Given the description of an element on the screen output the (x, y) to click on. 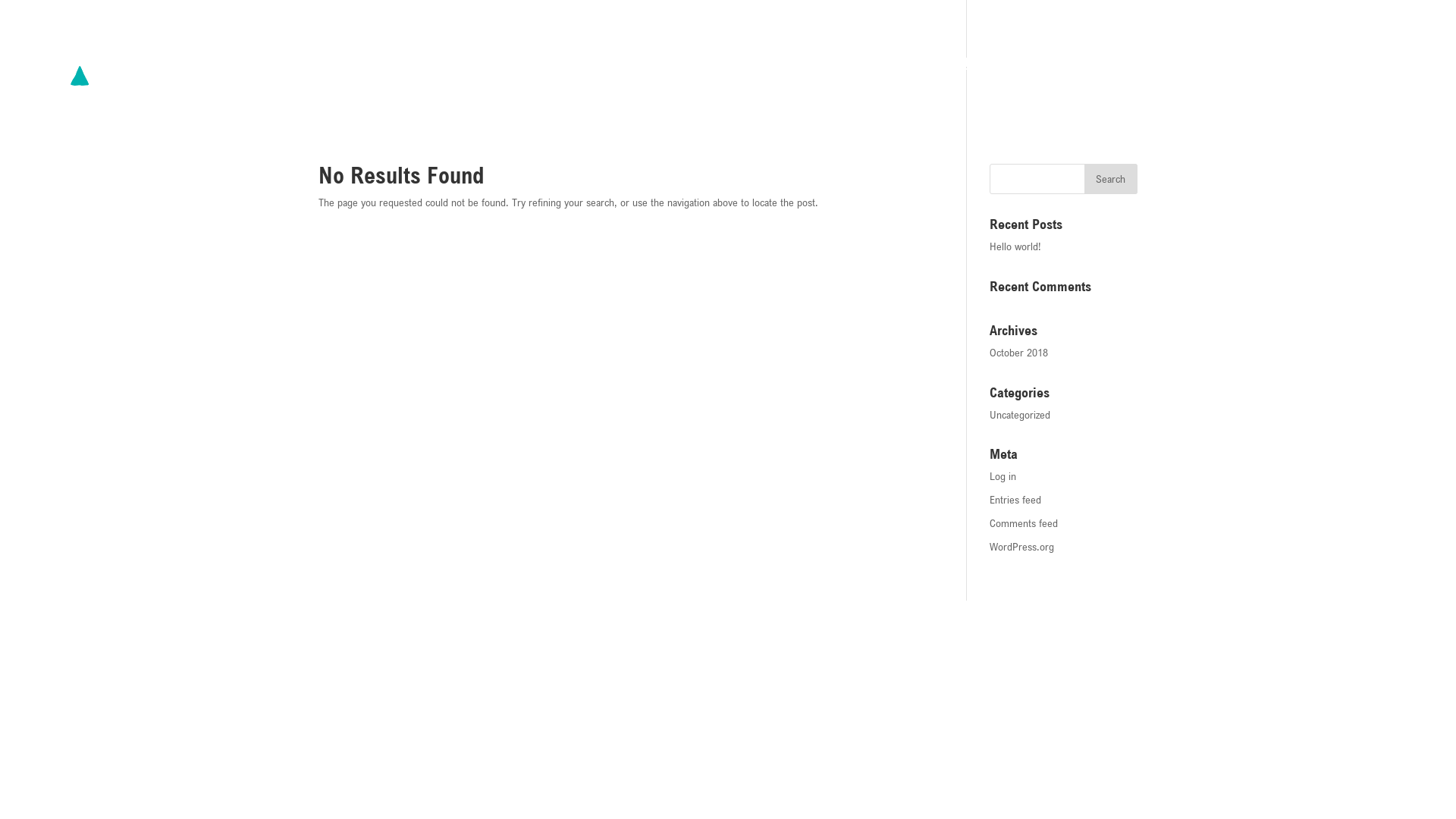
Environment Element type: text (1209, 86)
Hello world! Element type: text (1015, 246)
Entries feed Element type: text (1015, 499)
Contact Us Element type: text (1392, 86)
Dine-In Menu Element type: text (994, 86)
Comments feed Element type: text (1023, 523)
Log in Element type: text (1002, 476)
Search Element type: text (1110, 178)
Careers Element type: text (1304, 86)
October 2018 Element type: text (1018, 352)
Our Coffee Element type: text (1103, 86)
Uncategorized Element type: text (1019, 414)
WordPress.org Element type: text (1021, 546)
